Given the description of an element on the screen output the (x, y) to click on. 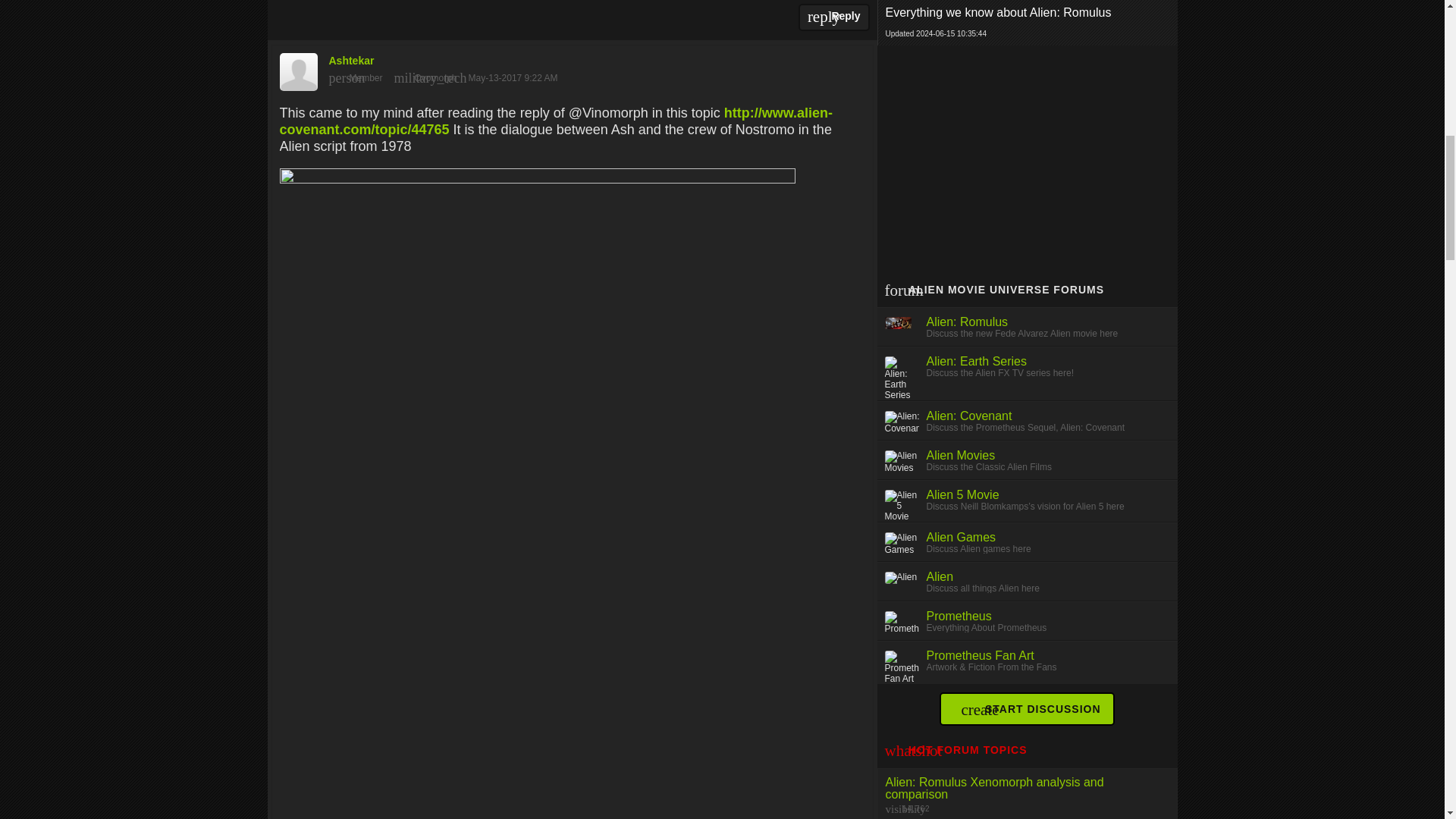
Everything we know about Alien: Romulus (1027, 13)
Reply to this! (833, 17)
Prometheus Fan Art (979, 655)
Reply (833, 17)
Ashtekar (571, 68)
Alien: Covenant (968, 415)
Alien Games (960, 536)
Alien: Romulus (967, 321)
Alien Movies (960, 454)
Alien: Earth Series (976, 360)
Prometheus (958, 615)
Alien (939, 576)
Alien 5 Movie (962, 494)
